Given the description of an element on the screen output the (x, y) to click on. 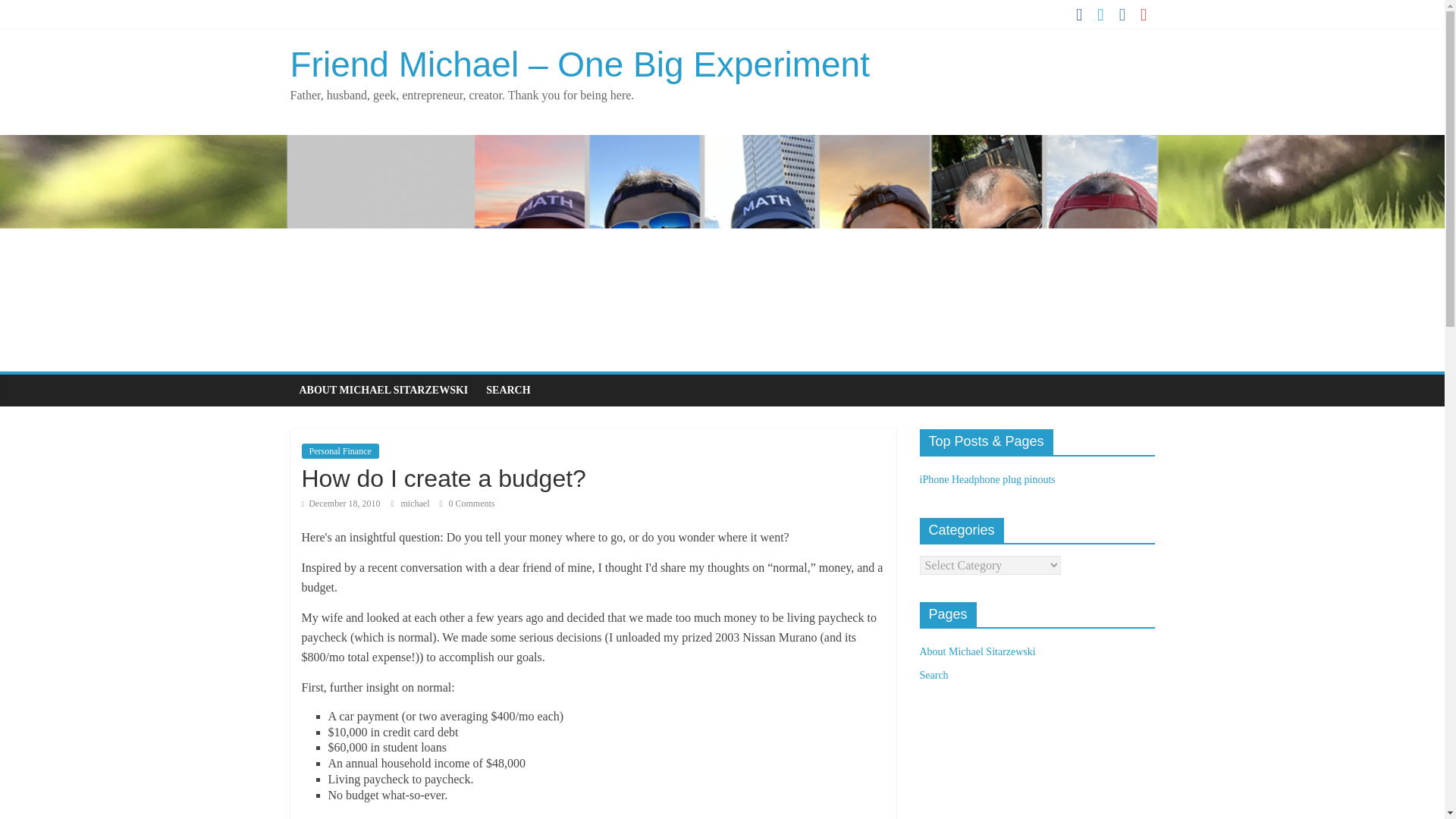
iPhone Headphone plug pinouts (986, 479)
michael (415, 502)
Personal Finance (339, 450)
ABOUT MICHAEL SITARZEWSKI (383, 390)
michael (415, 502)
December 18, 2010 (340, 502)
SEARCH (507, 390)
About Michael Sitarzewski (976, 651)
8:57 pm (340, 502)
Search (932, 674)
